Given the description of an element on the screen output the (x, y) to click on. 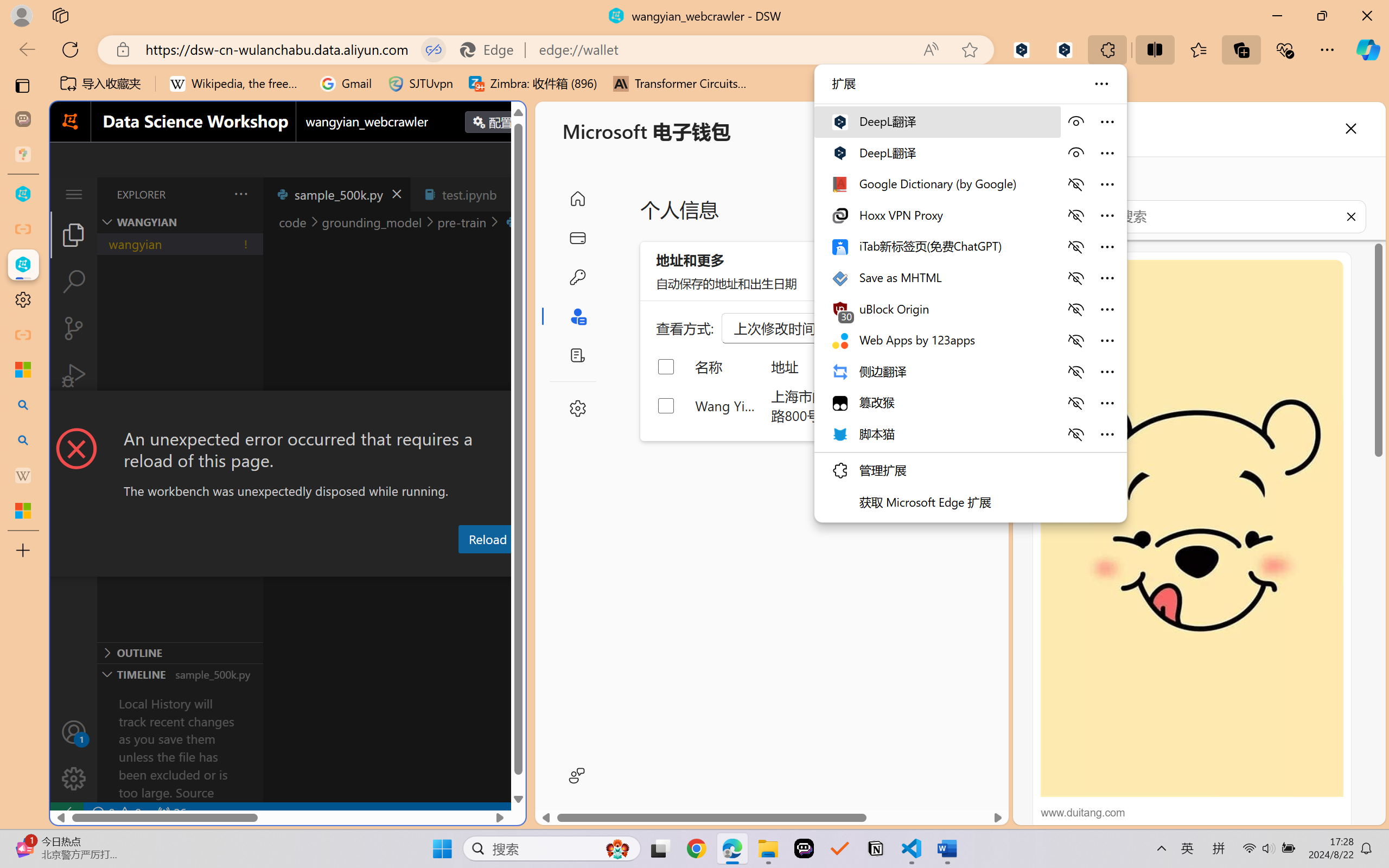
Search (Ctrl+Shift+F) (73, 281)
Wikipedia, the free encyclopedia (236, 83)
remote (66, 812)
Application Menu (73, 194)
No Problems (115, 812)
Close Dialog (520, 410)
